Given the description of an element on the screen output the (x, y) to click on. 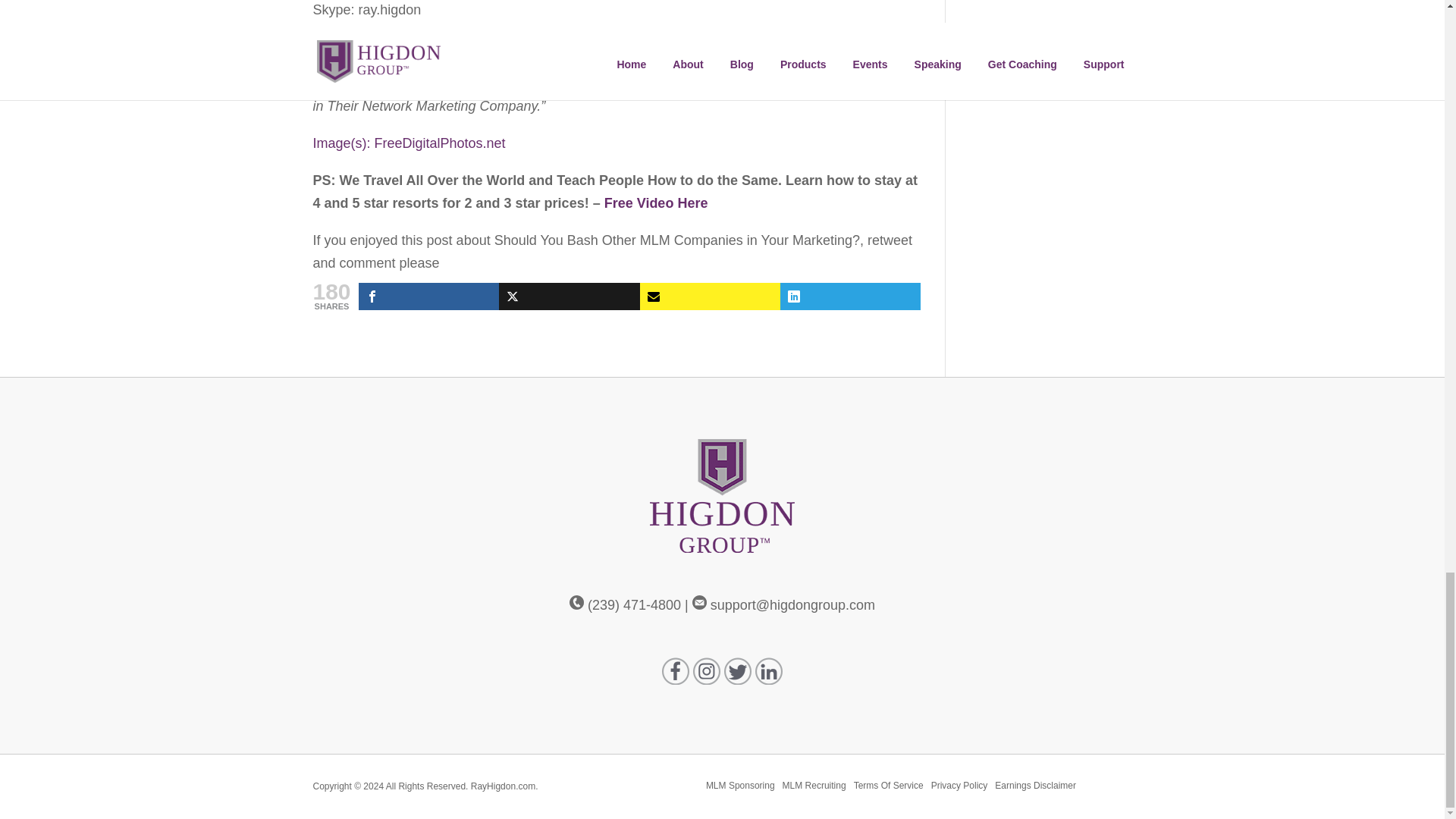
Twitter (569, 296)
Facebook (428, 296)
Free Video Here (655, 202)
higdon-group-footer-logo (721, 495)
